Given the description of an element on the screen output the (x, y) to click on. 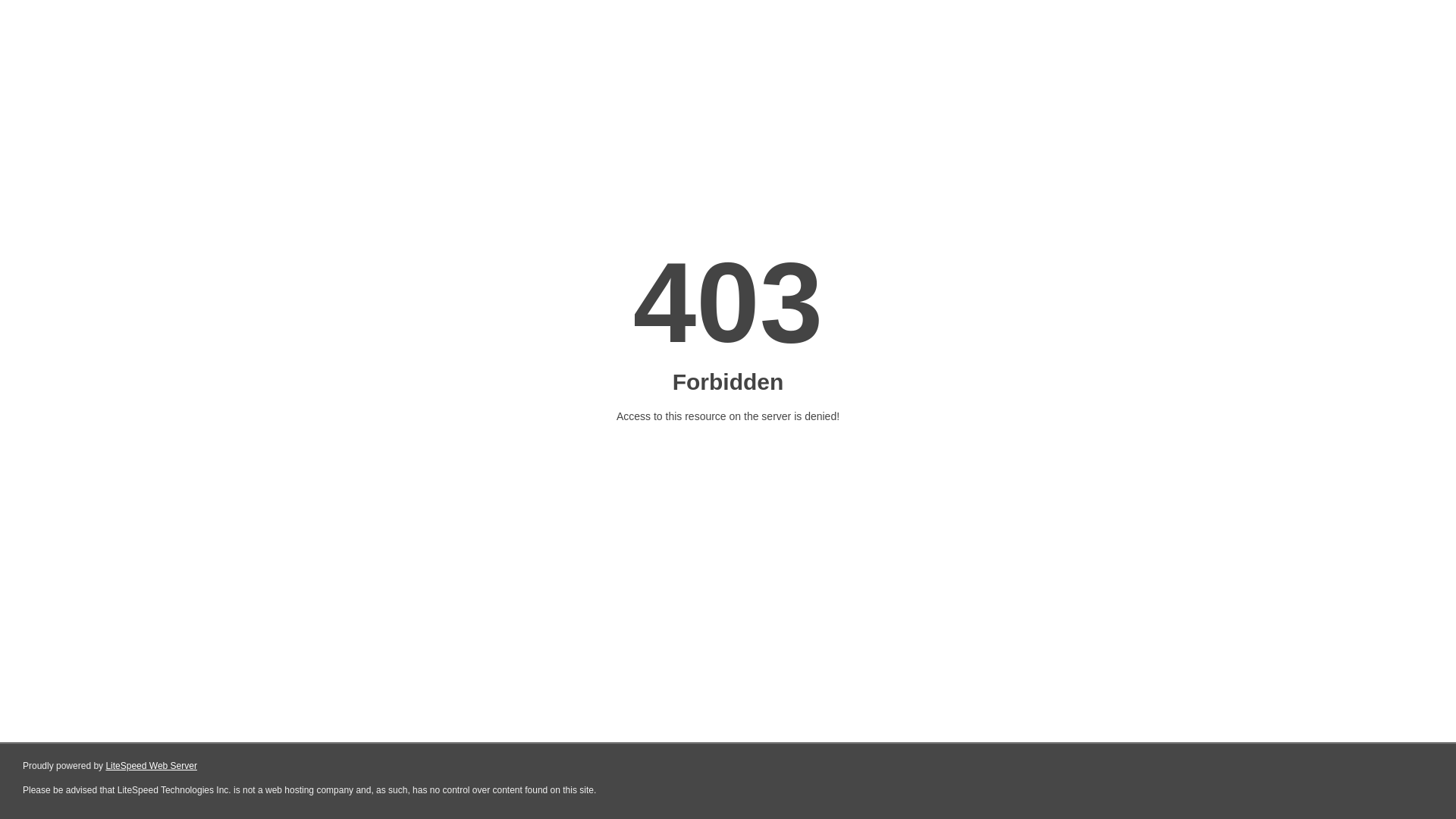
LiteSpeed Web Server Element type: text (151, 765)
